Given the description of an element on the screen output the (x, y) to click on. 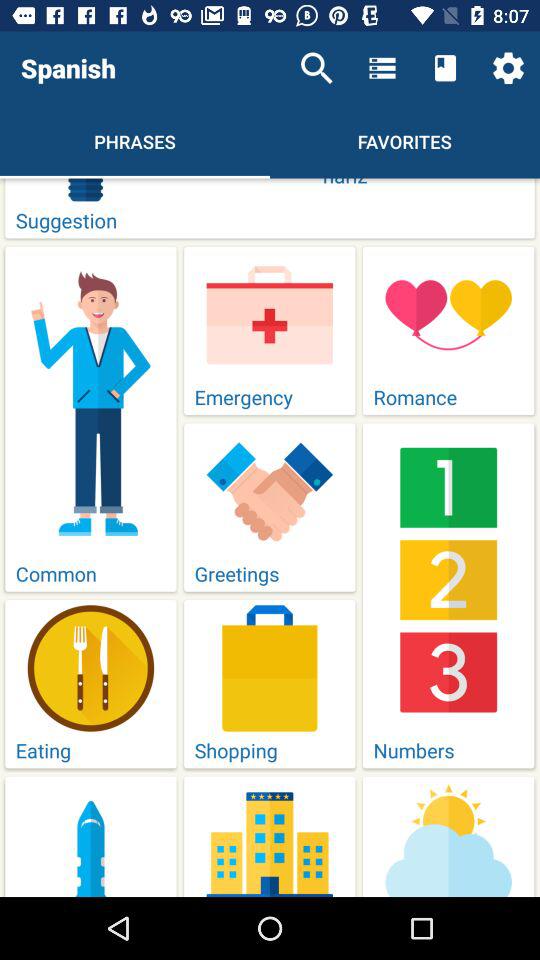
select the item above the favorites (381, 67)
